Given the description of an element on the screen output the (x, y) to click on. 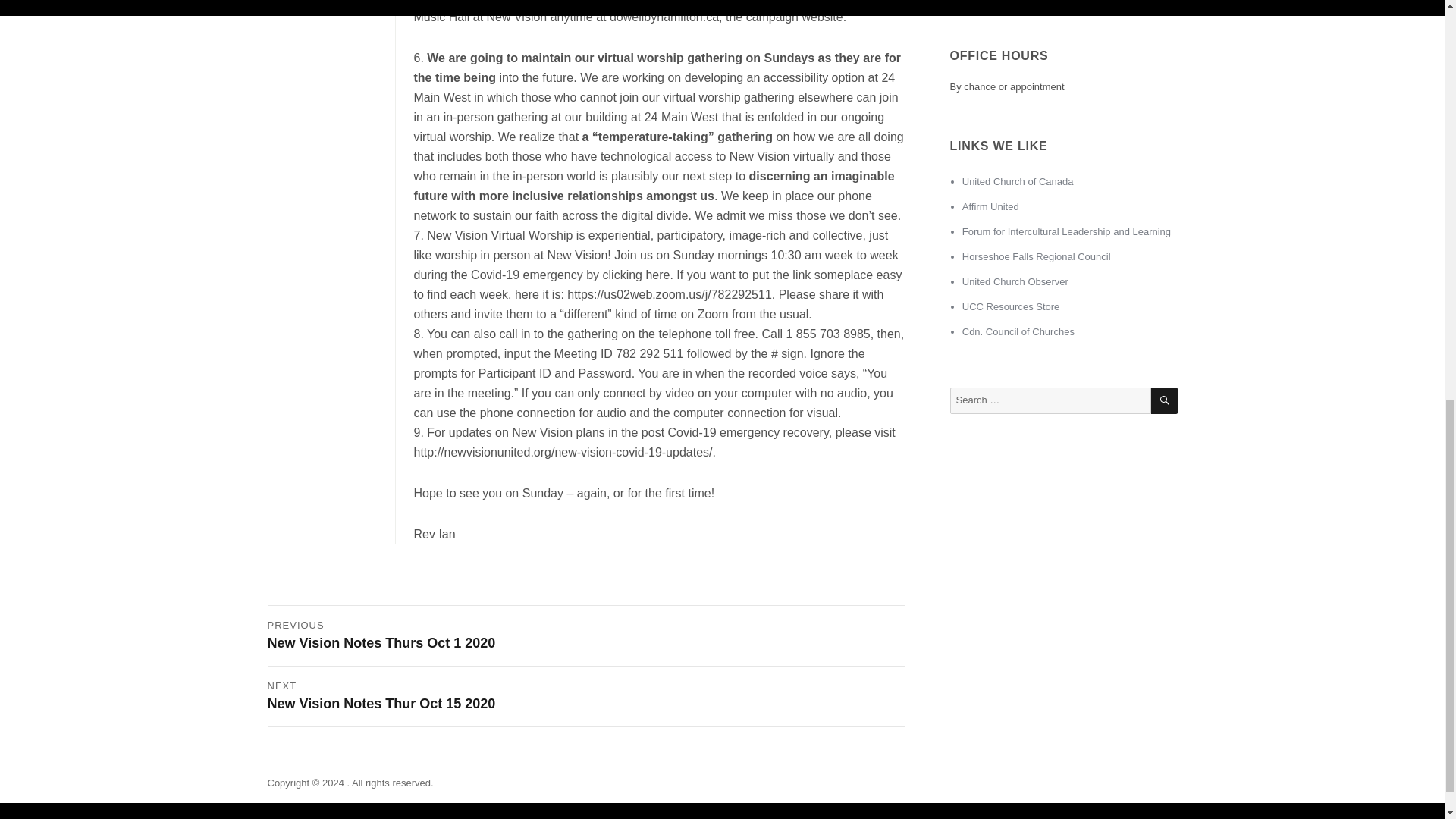
UCC Resources Store (1010, 306)
visit Horseshoe Falls Regional Council in new tab (1036, 256)
visit UCC site in new tab (1018, 181)
visit Affirm United site in new tab (990, 206)
visit United Church Observer site in new tab (1015, 281)
SEARCH (1164, 400)
Affirm United (990, 206)
Horseshoe Falls Regional Council (1036, 256)
Cdn. Council of Churches (1018, 331)
United Church of Canada (1018, 181)
